Given the description of an element on the screen output the (x, y) to click on. 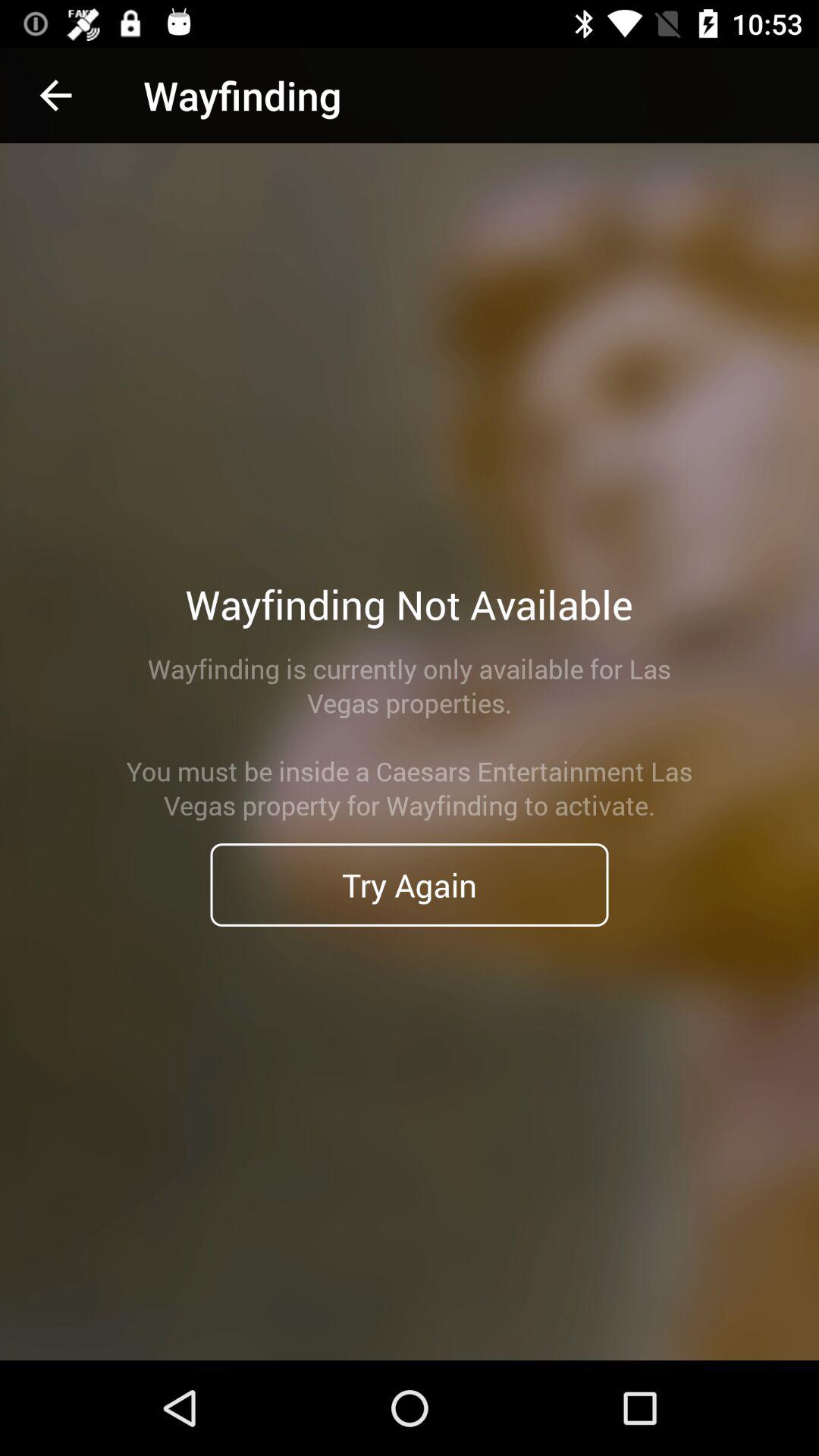
scroll until the try again (409, 884)
